Given the description of an element on the screen output the (x, y) to click on. 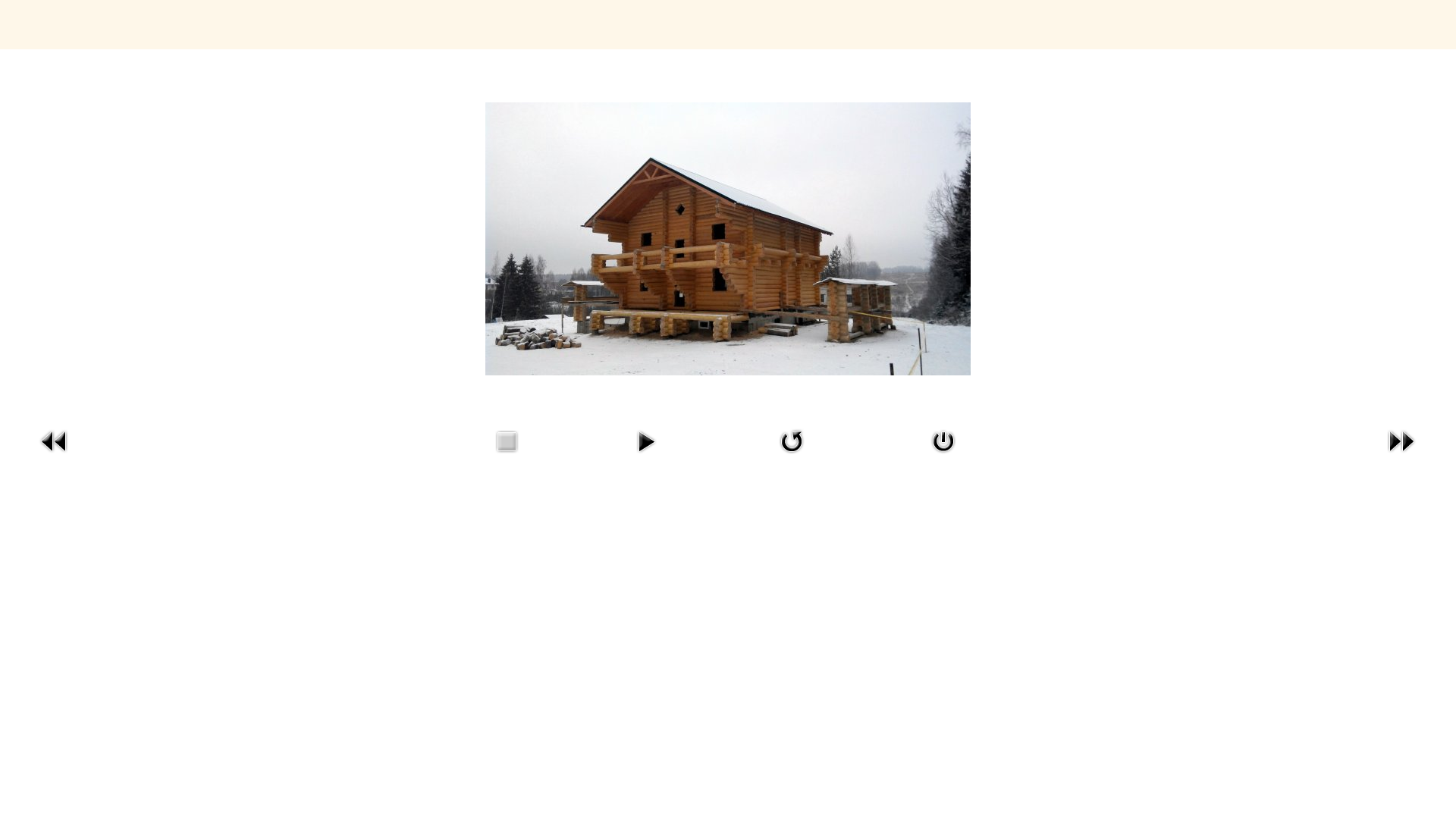
Previous Image Element type: hover (54, 455)
Refresh Element type: hover (791, 455)
Next Image Element type: hover (1401, 455)
Start Slideshow Element type: hover (645, 455)
Close Window Element type: hover (943, 455)
